Given the description of an element on the screen output the (x, y) to click on. 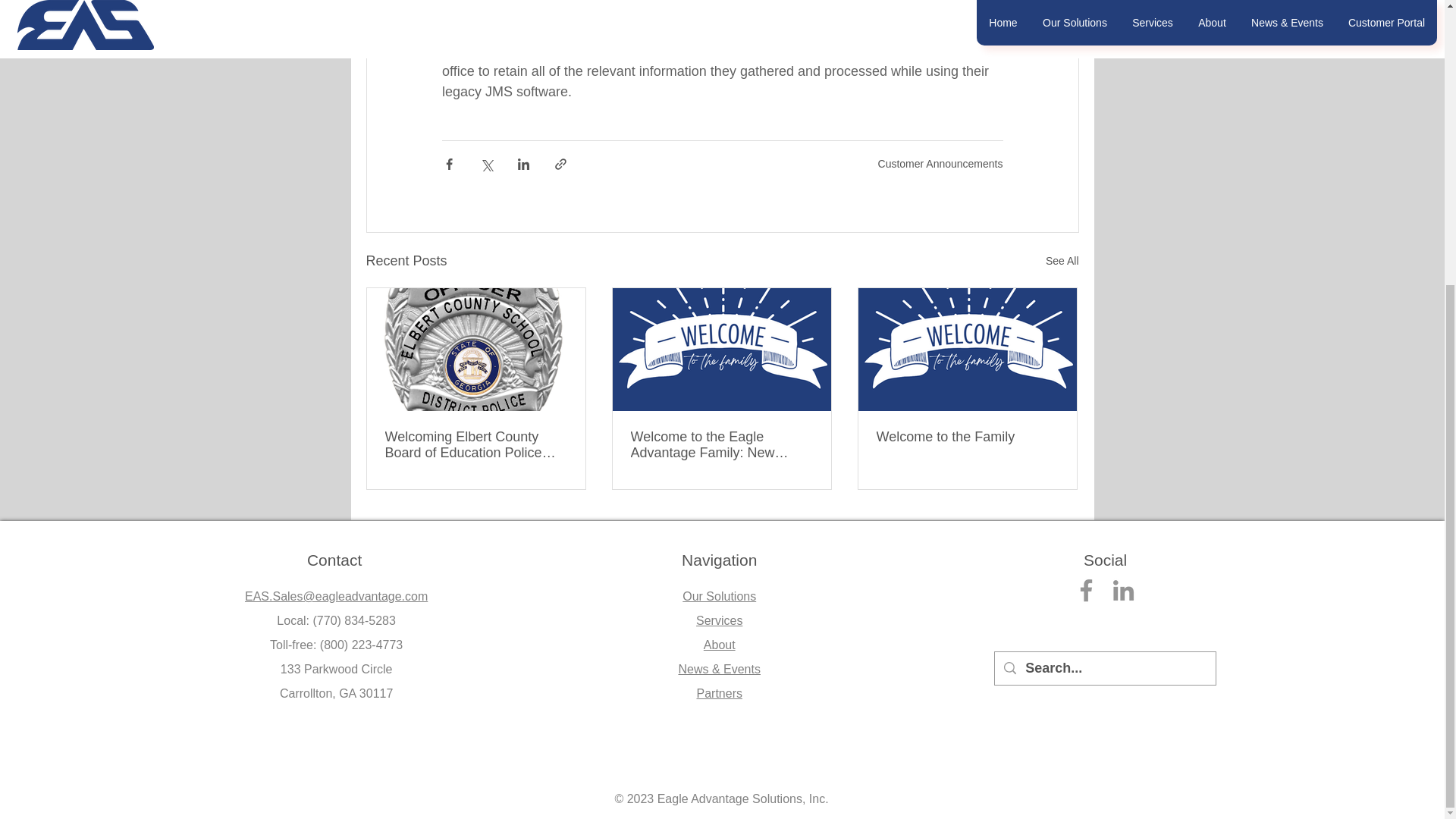
Welcome to the Family (967, 437)
Partners (718, 693)
Services (718, 620)
About (719, 644)
See All (1061, 260)
Customer Announcements (940, 163)
Our Solutions (718, 595)
